Given the description of an element on the screen output the (x, y) to click on. 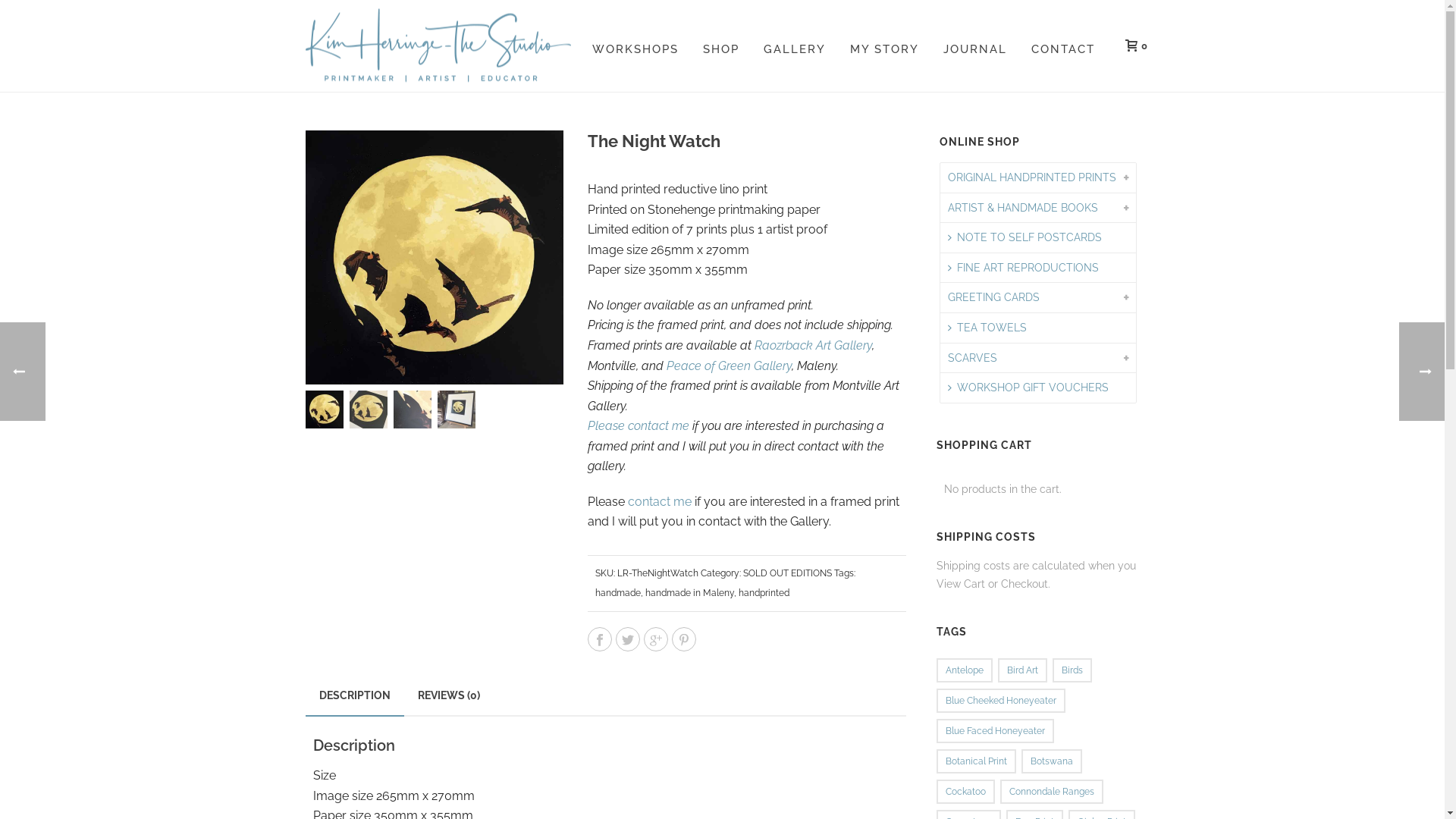
handprinted Element type: text (763, 592)
ORIGINAL HANDPRINTED PRINTS Element type: text (1031, 177)
NOTE TO SELF POSTCARDS Element type: text (1024, 237)
Connondale Ranges Element type: text (1051, 791)
SCARVES Element type: text (972, 358)
JOURNAL Element type: text (975, 45)
TEA TOWELS Element type: text (987, 327)
Antelope Element type: text (964, 670)
MY STORY Element type: text (883, 45)
SHOP Element type: text (720, 45)
ARTIST & HANDMADE BOOKS Element type: text (1022, 207)
WORKSHOP GIFT VOUCHERS Element type: text (1028, 387)
FINE ART REPRODUCTIONS Element type: text (1023, 267)
Peace of Green Gallery Element type: text (728, 365)
Cockatoo Element type: text (965, 791)
Bird Art Element type: text (1022, 670)
DESCRIPTION Element type: text (353, 695)
Botswana Element type: text (1051, 761)
The Night Watch, reductive linoprint by Kim Herringe Element type: hover (433, 257)
SOLD OUT EDITIONS Element type: text (787, 572)
Birds Element type: text (1072, 670)
handmade in Maleny Element type: text (689, 592)
0 Element type: text (1132, 44)
Printmaker, Designer Element type: hover (437, 45)
contact me Element type: text (659, 501)
Botanical Print Element type: text (976, 761)
WORKSHOPS Element type: text (634, 45)
Blue Cheeked Honeyeater Element type: text (1000, 700)
Blue Faced Honeyeater Element type: text (995, 730)
CONTACT Element type: text (1063, 45)
Raozrback Art Gallery Element type: text (813, 345)
REVIEWS (0) Element type: text (447, 695)
Please contact me Element type: text (638, 425)
GREETING CARDS Element type: text (993, 297)
GALLERY Element type: text (793, 45)
handmade Element type: text (617, 592)
